Given the description of an element on the screen output the (x, y) to click on. 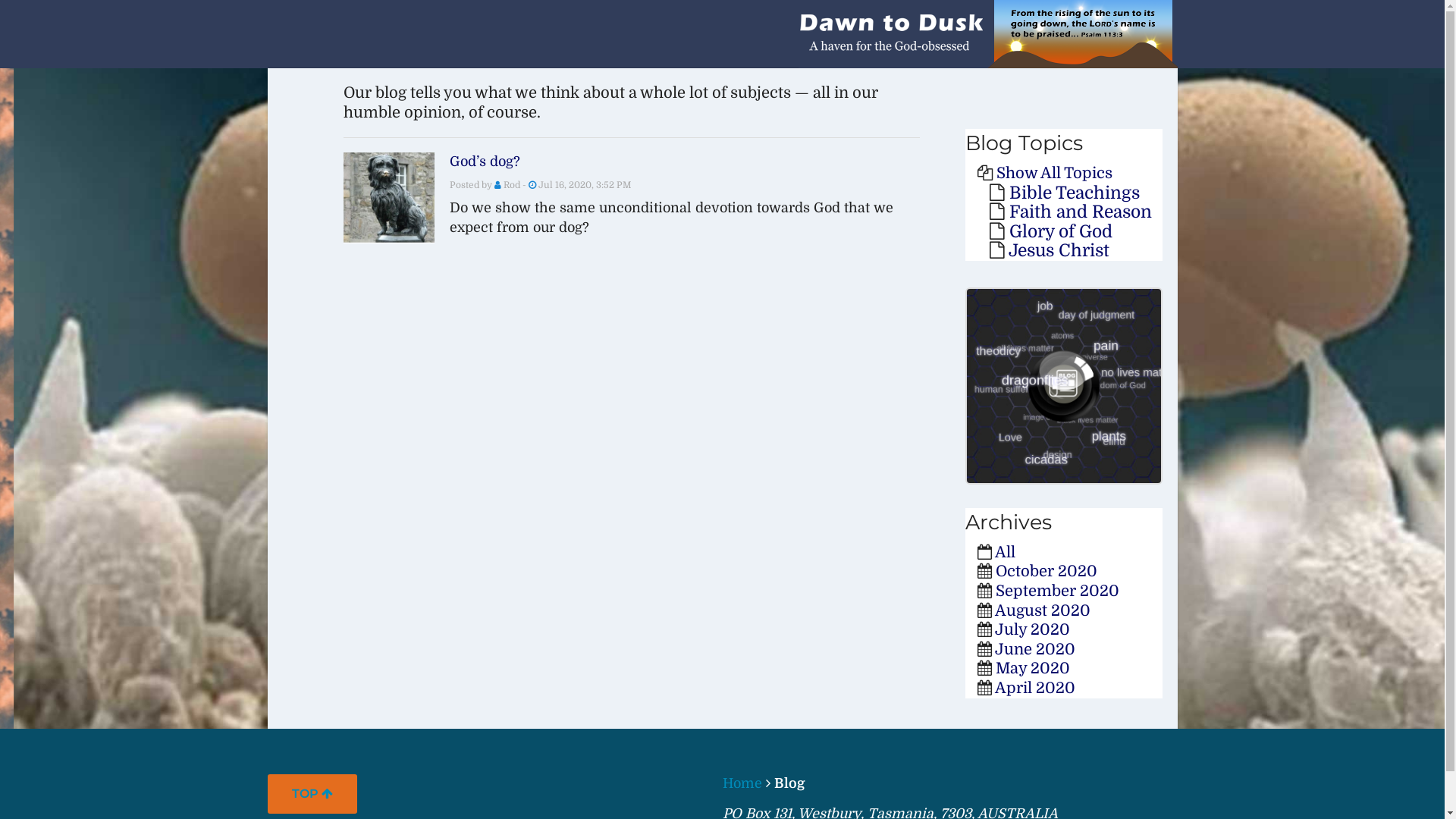
Bible Teachings Element type: text (1073, 192)
April 2020 Element type: text (1034, 687)
October 2020 Element type: text (1045, 571)
August 2020 Element type: text (1042, 610)
TOP Element type: text (311, 792)
Glory of God Element type: text (1059, 231)
Faith and Reason Element type: text (1079, 211)
July 2020 Element type: text (1032, 629)
September 2020 Element type: text (1056, 590)
Jesus Christ Element type: text (1058, 250)
Show All Topics Element type: text (1054, 173)
June 2020 Element type: text (1034, 649)
All Element type: text (1004, 552)
Home Element type: text (741, 782)
May 2020 Element type: text (1031, 668)
